Given the description of an element on the screen output the (x, y) to click on. 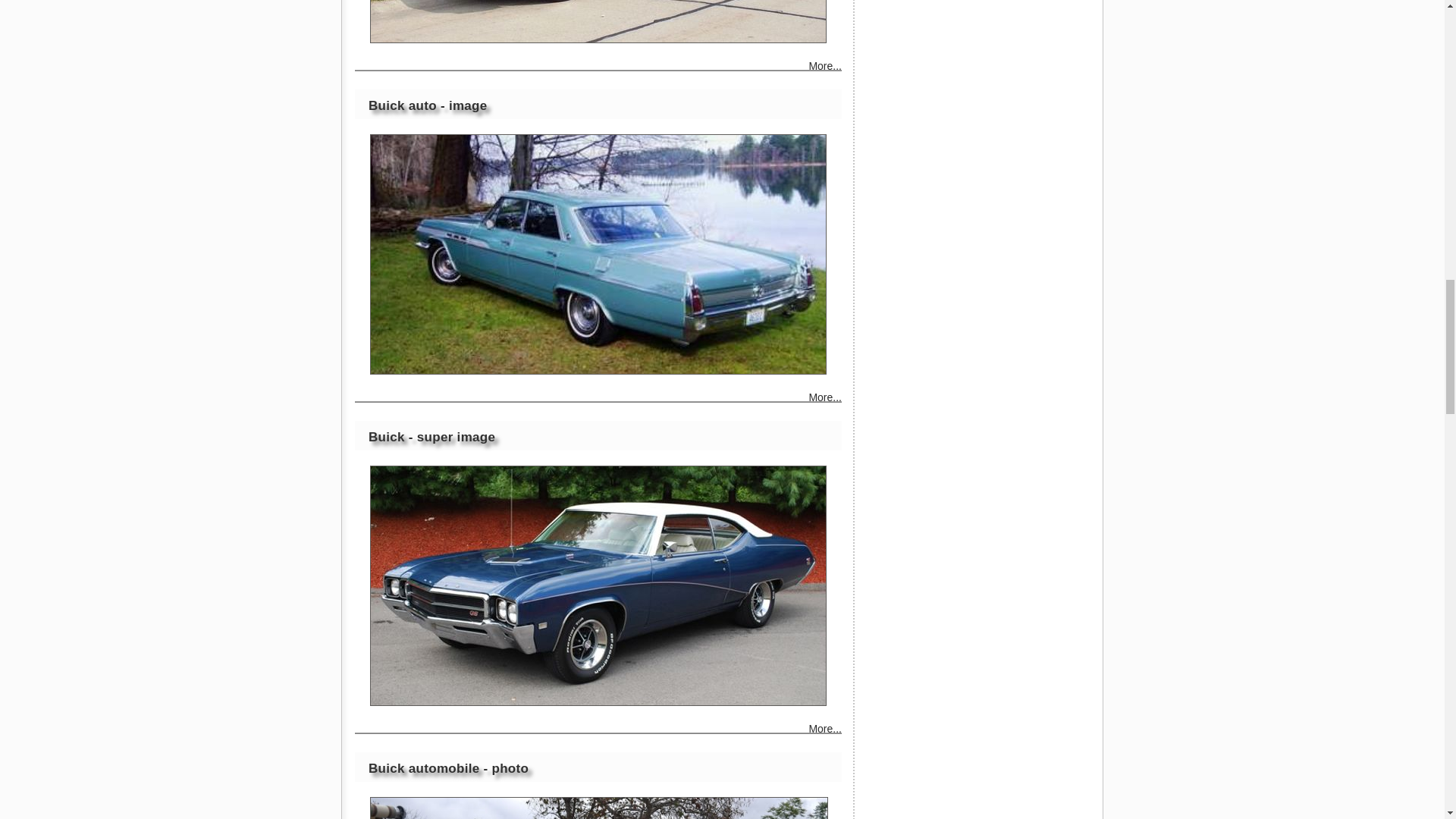
More... (824, 730)
More... (824, 399)
Buick auto - image (427, 105)
Buick automobile - photo (598, 807)
Buick automobile - photo (448, 768)
Buick auto - image (598, 254)
Buick - super image (598, 585)
Buick - super image (431, 436)
More... (824, 67)
Buick auto - fine image (598, 21)
